Given the description of an element on the screen output the (x, y) to click on. 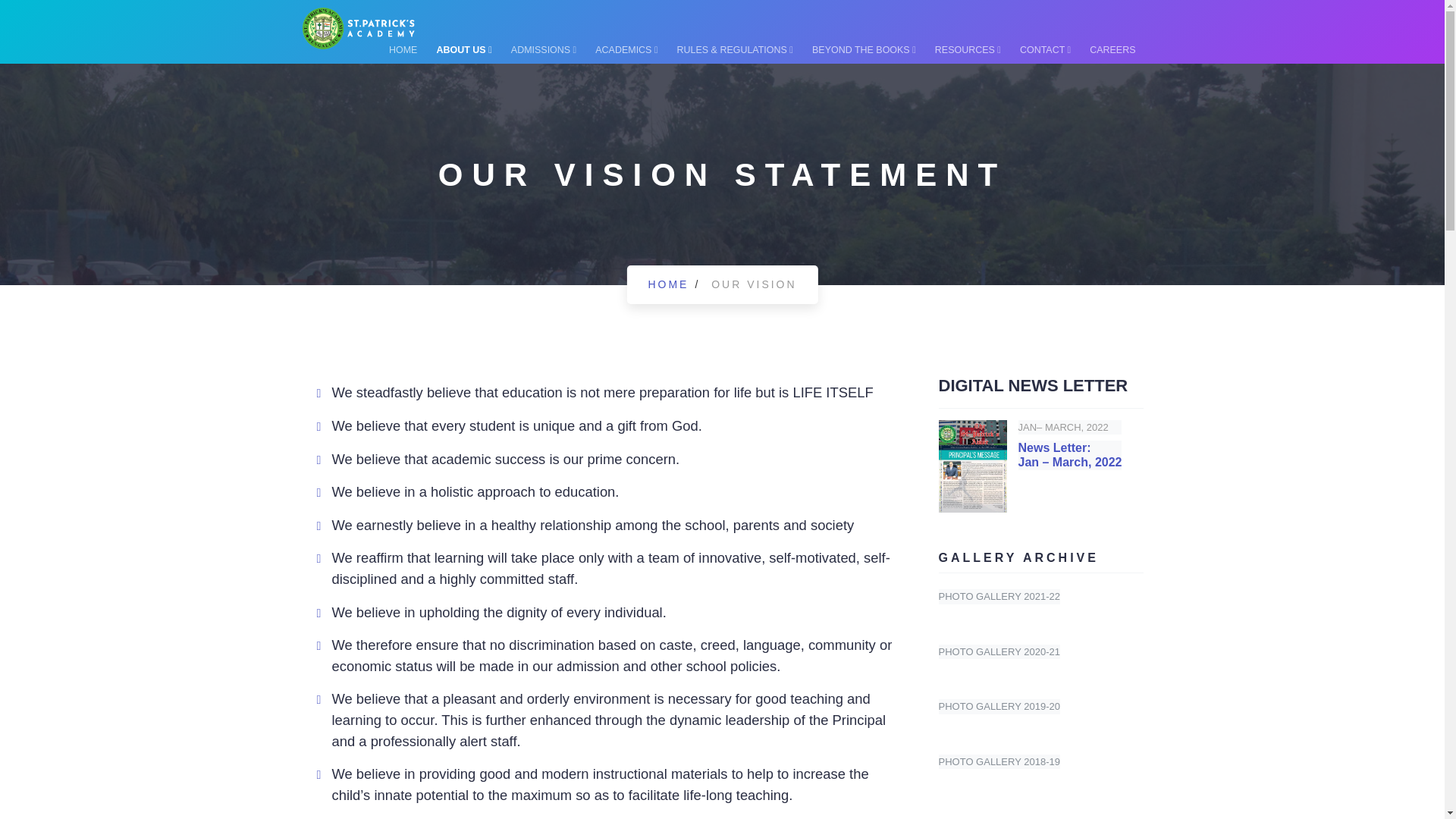
ADMISSIONS (543, 49)
ABOUT US (464, 49)
BEYOND THE BOOKS (864, 49)
ACADEMICS (626, 49)
